Given the description of an element on the screen output the (x, y) to click on. 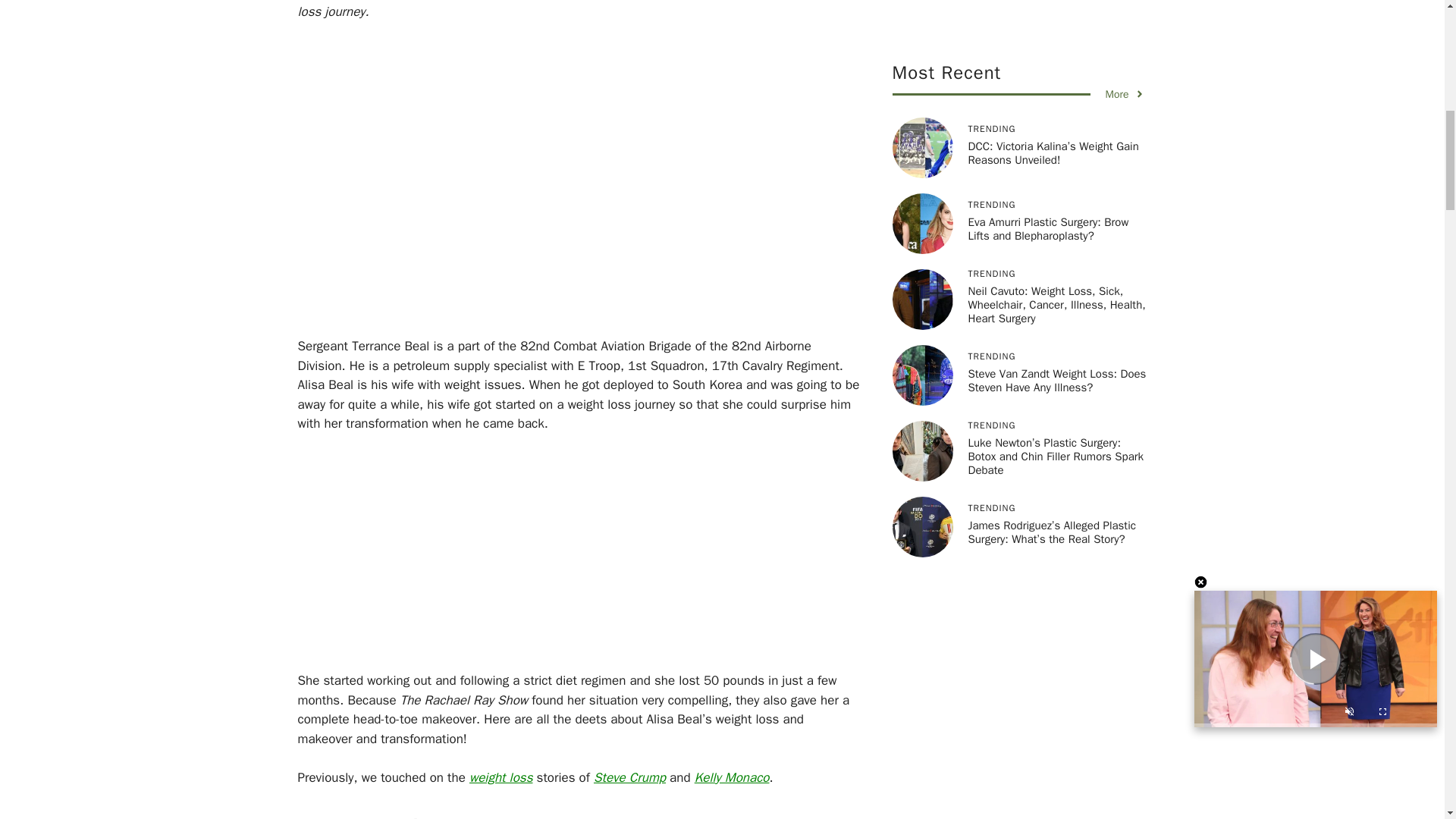
Kelly Monaco (732, 776)
weight loss (500, 776)
Steve Crump (629, 776)
